Given the description of an element on the screen output the (x, y) to click on. 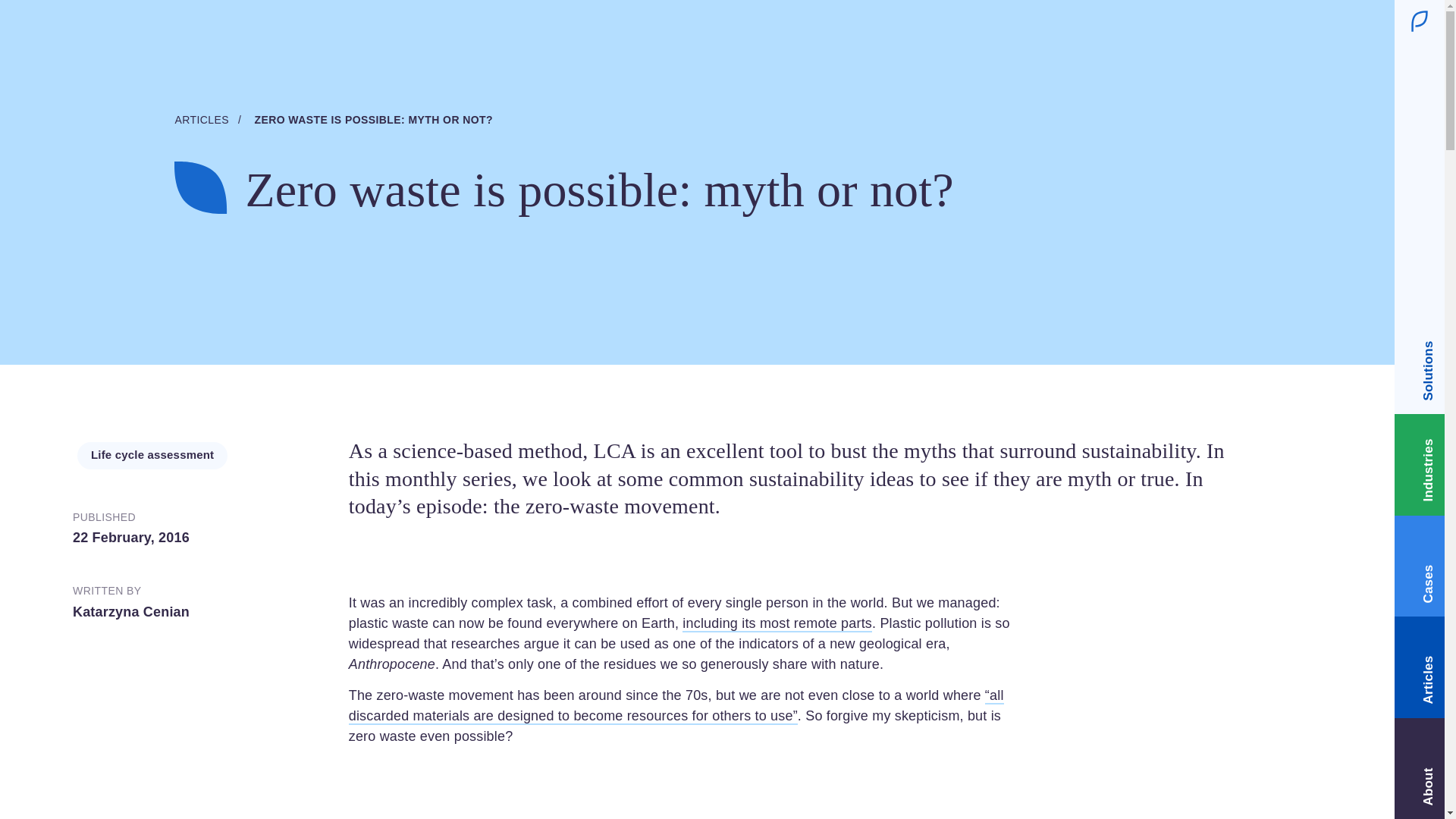
ARTICLES (201, 119)
Life cycle assessment (152, 454)
including its most remote parts (777, 623)
Katarzyna Cenian (130, 611)
ZERO WASTE IS POSSIBLE: MYTH OR NOT? (373, 119)
